Given the description of an element on the screen output the (x, y) to click on. 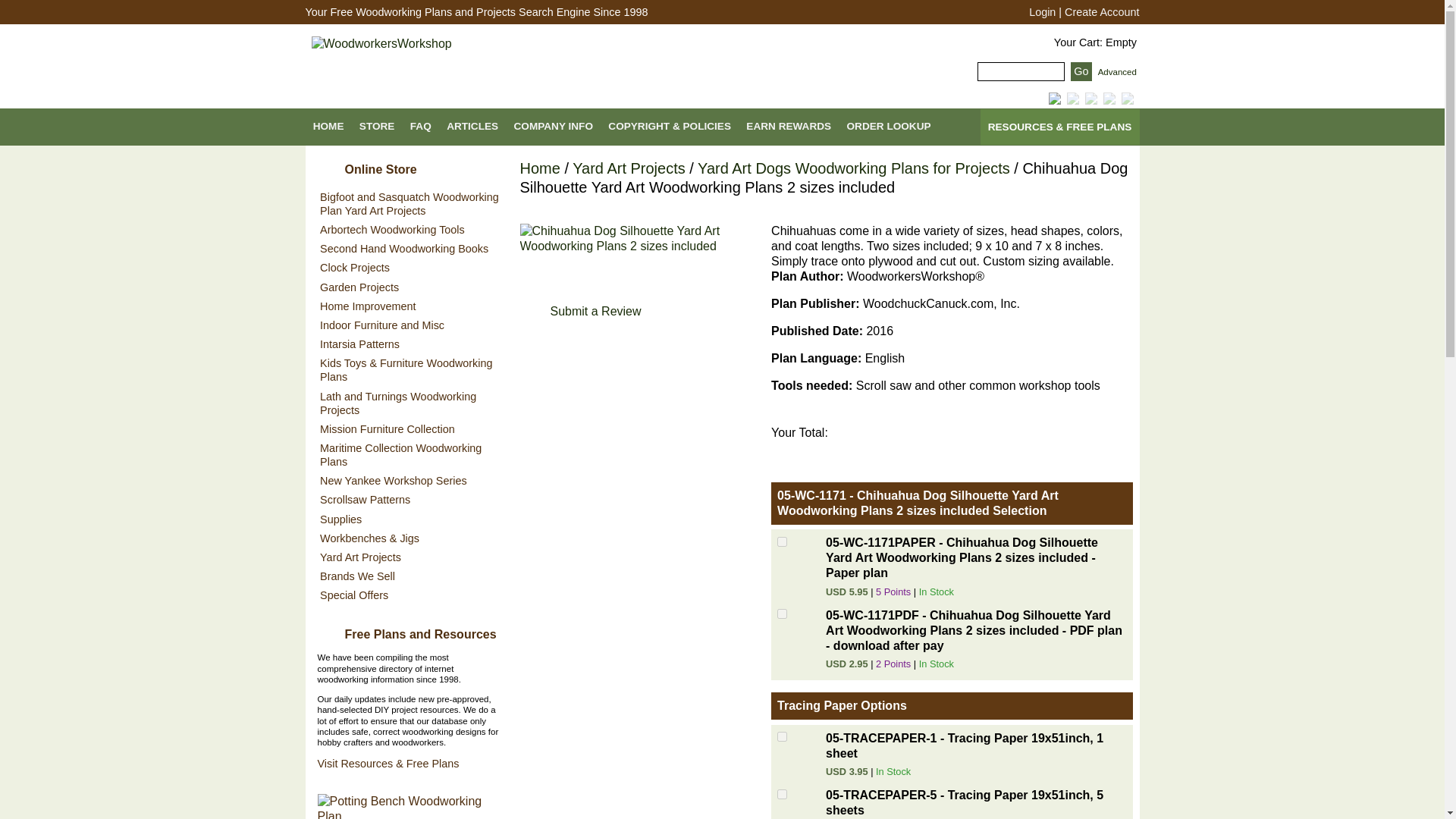
Special Offers (408, 595)
Home (539, 167)
Yard Art Dogs Woodworking Plans for Projects (853, 167)
Home Improvement (408, 305)
Clock Projects (408, 267)
1 (782, 737)
Mission Furniture Collection (408, 428)
Arbortech Woodworking Tools (408, 229)
Indoor Furniture and Misc (408, 324)
